Given the description of an element on the screen output the (x, y) to click on. 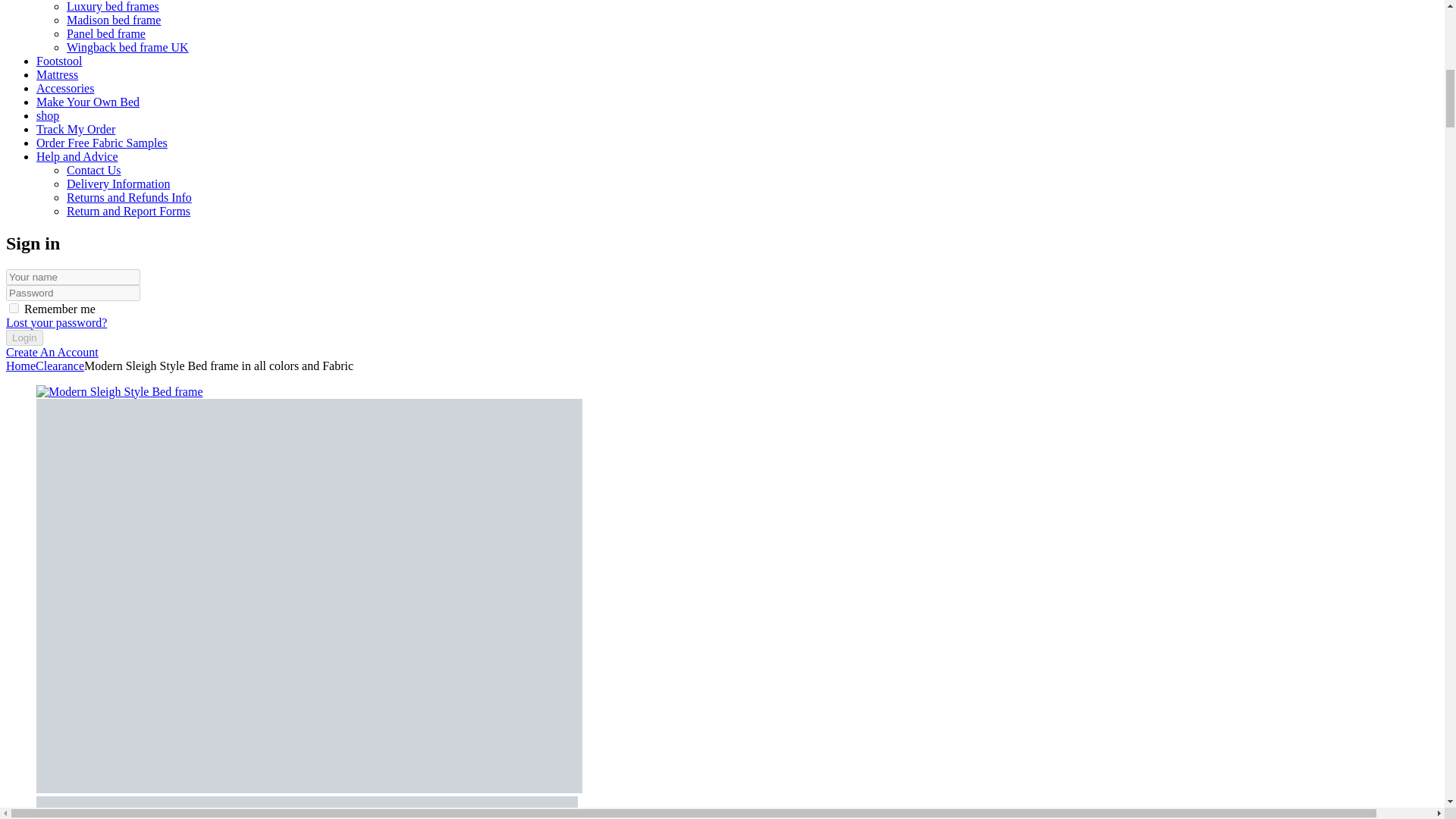
Wingback bed frame UK (127, 47)
Return and Report Forms (128, 210)
Luxury bed frames (112, 6)
Make Your Own Bed (87, 101)
Panel bed frame (105, 33)
Login (24, 336)
Track My Order (75, 128)
forever (13, 307)
Returns and Refunds Info (129, 196)
Order Free Fabric Samples (101, 142)
Help and Advice (76, 155)
shop (47, 115)
Lost your password? (55, 321)
Footstool (58, 60)
